Given the description of an element on the screen output the (x, y) to click on. 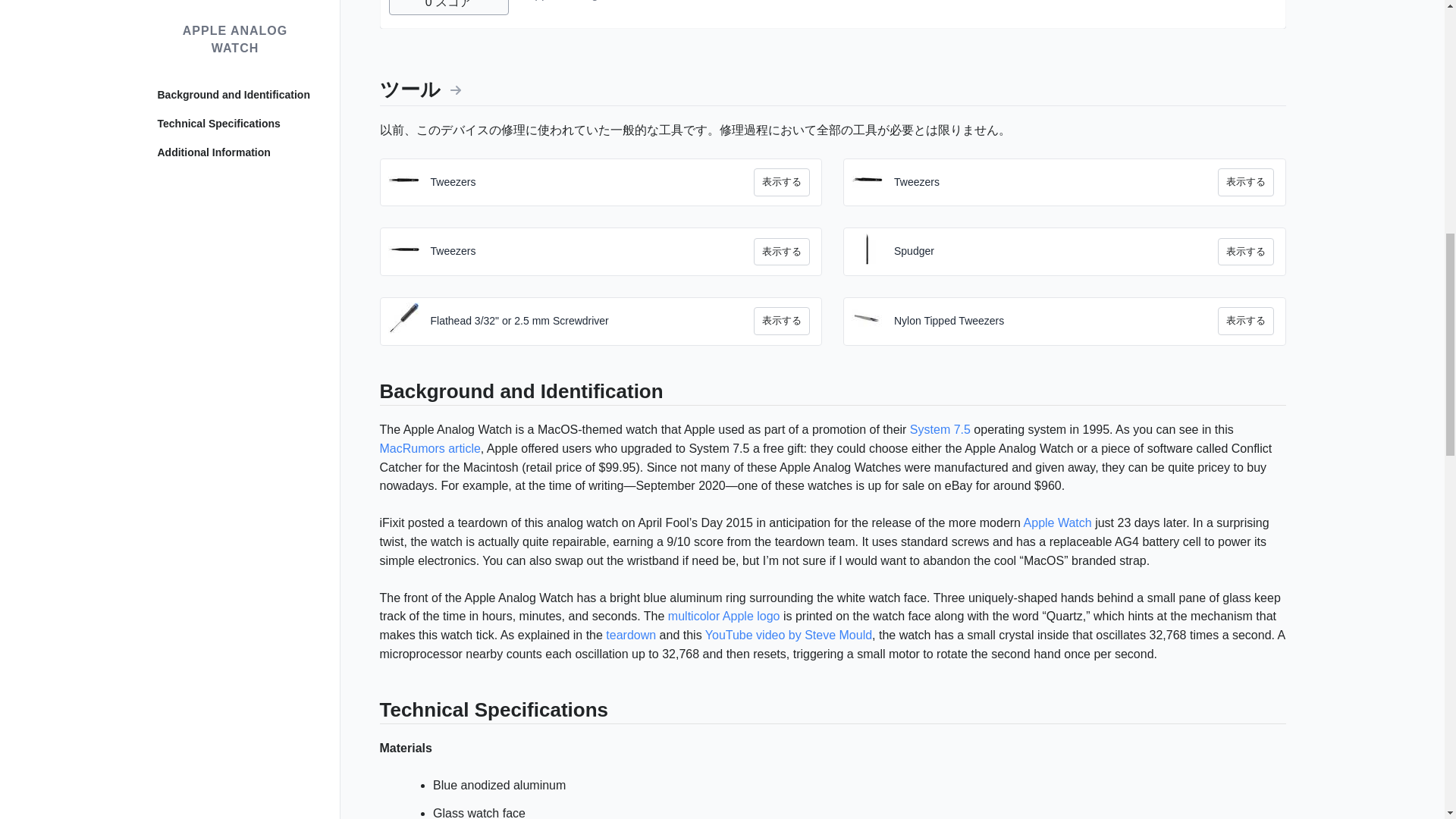
Nylon Tipped Tweezers (1055, 290)
Spudger (1055, 221)
Tweezers (1055, 152)
Tweezers (592, 221)
Tweezers (592, 152)
